Given the description of an element on the screen output the (x, y) to click on. 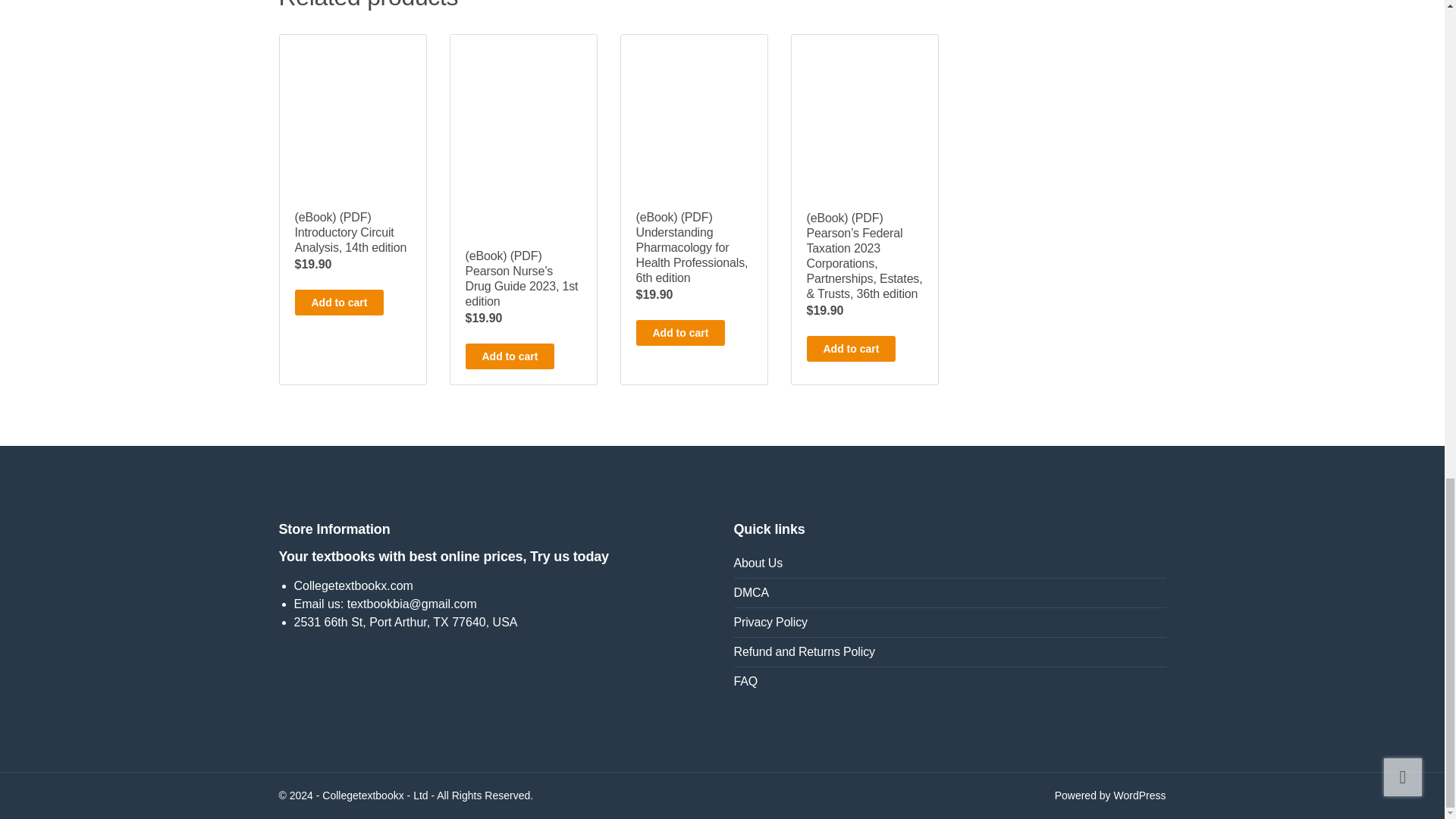
Add to cart (339, 302)
Add to cart (851, 348)
Add to cart (679, 332)
Add to cart (509, 356)
